Given the description of an element on the screen output the (x, y) to click on. 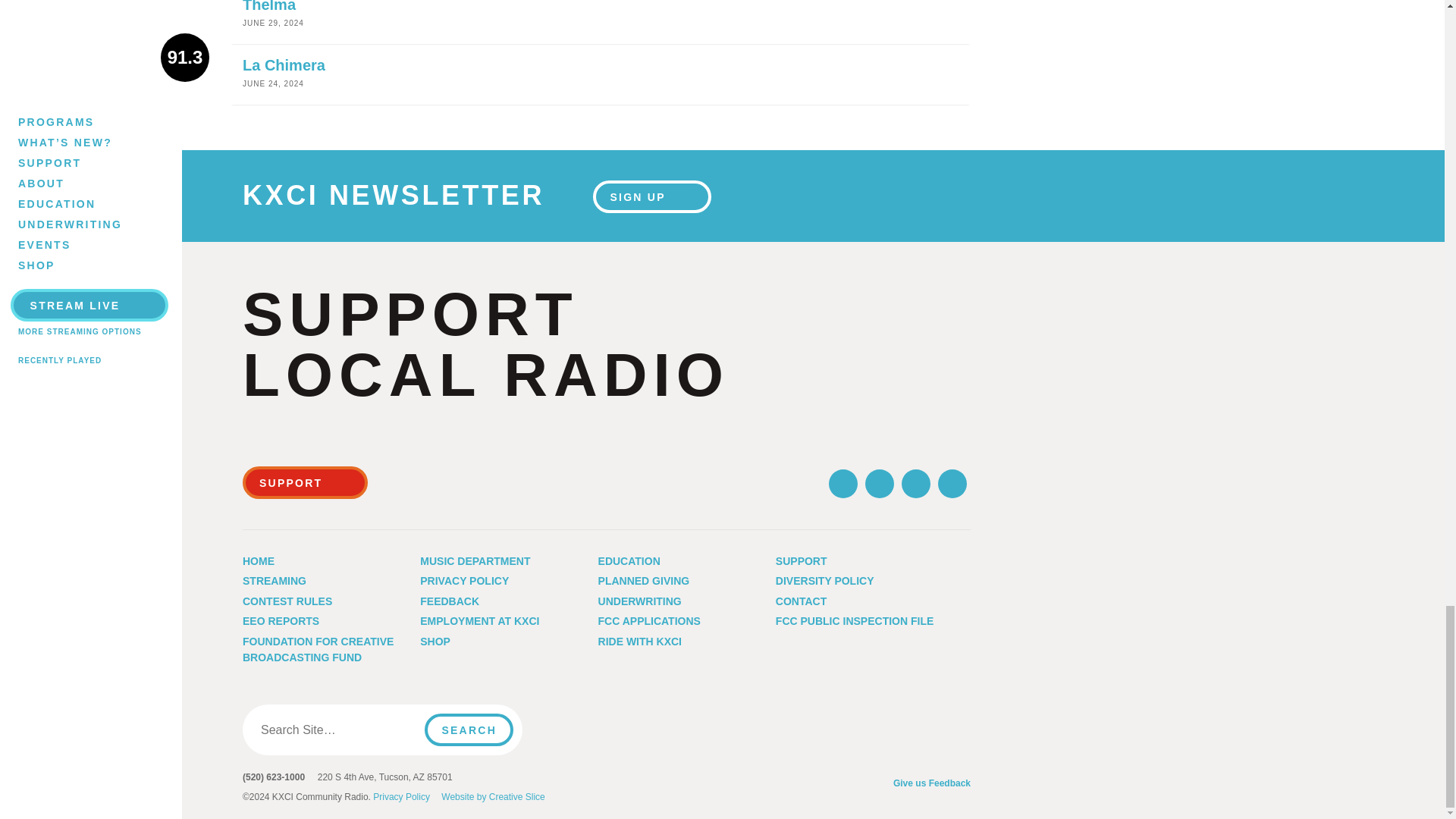
Search (469, 729)
